Given the description of an element on the screen output the (x, y) to click on. 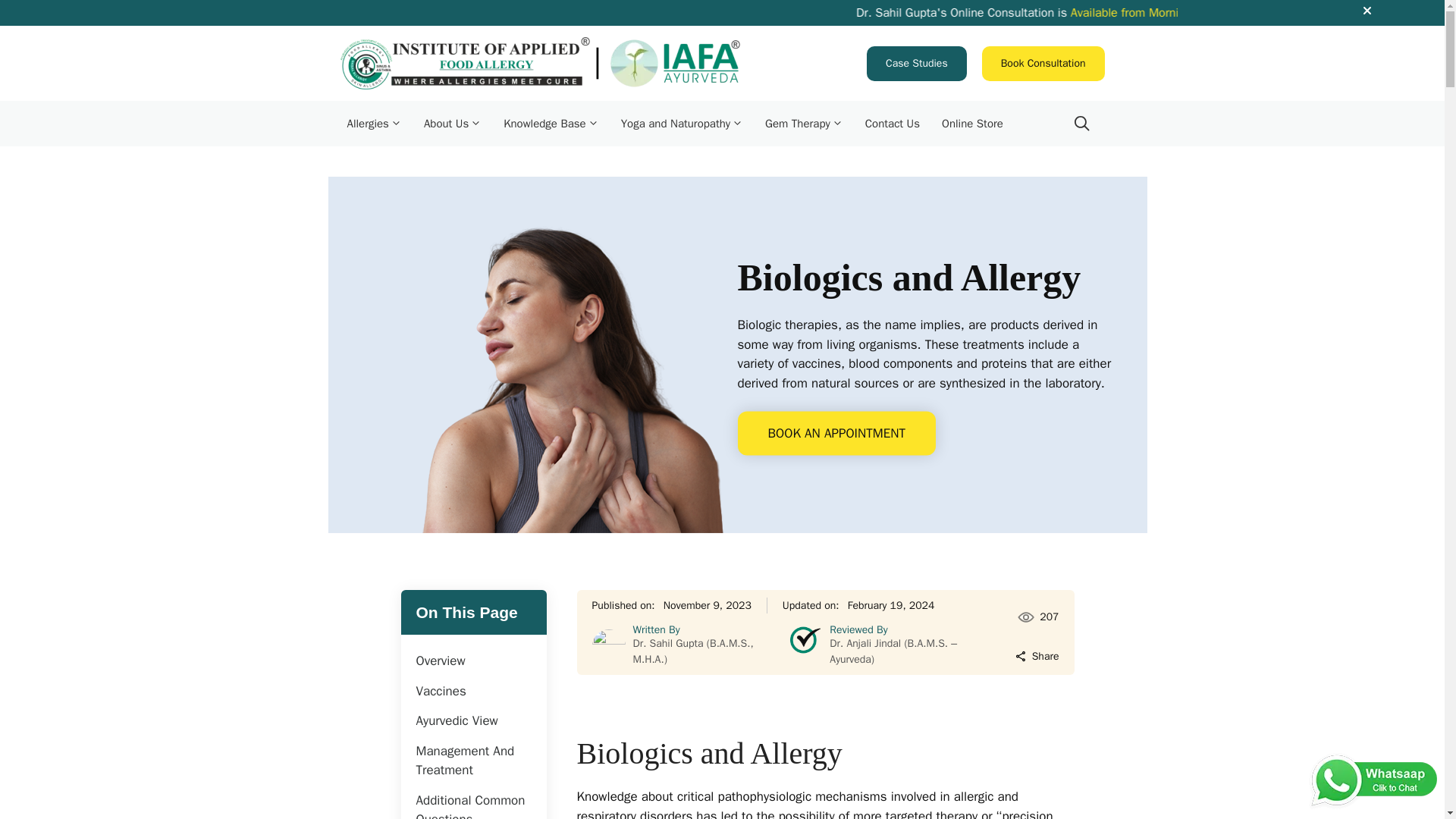
Case Studies (916, 62)
About Us (456, 123)
Allergies (377, 123)
Book Consultation (1043, 62)
